Given the description of an element on the screen output the (x, y) to click on. 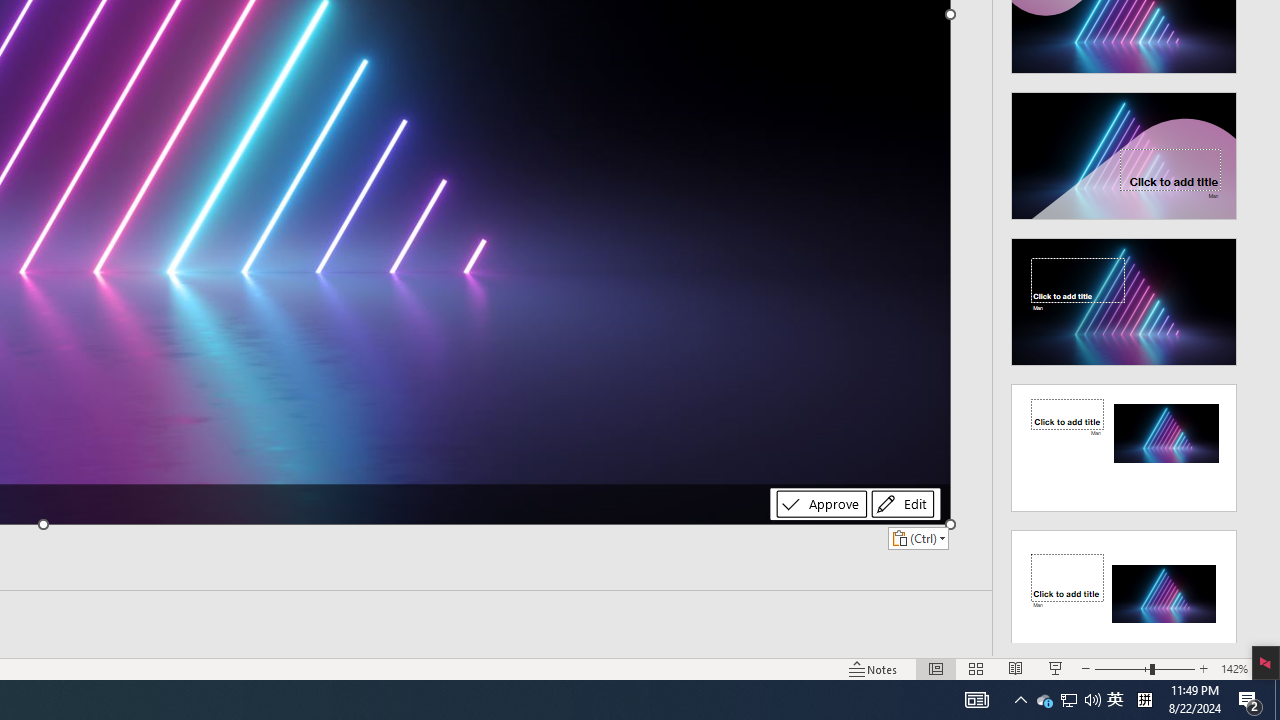
Action: Paste alternatives (918, 538)
Design Idea (1124, 587)
Zoom 142% (1234, 668)
